Given the description of an element on the screen output the (x, y) to click on. 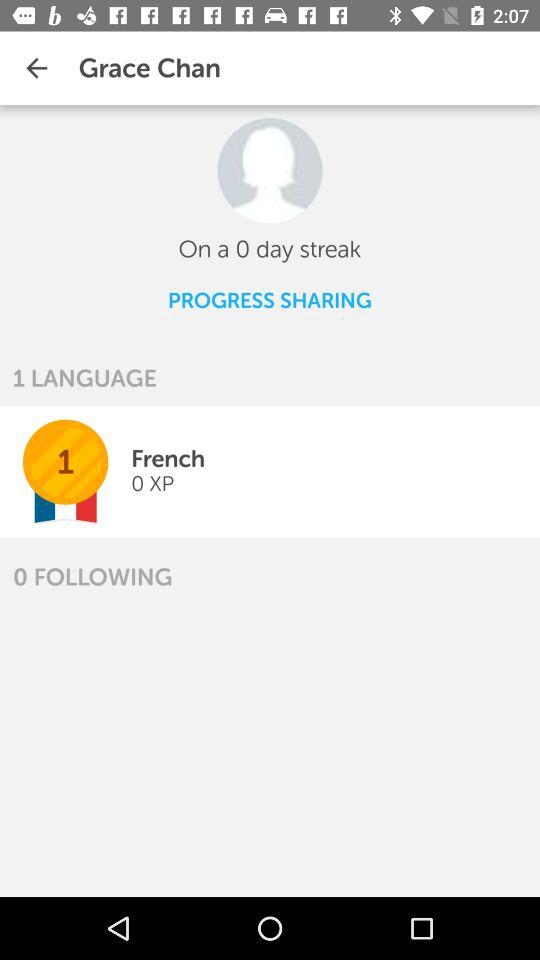
turn on the 0 following (92, 576)
